Given the description of an element on the screen output the (x, y) to click on. 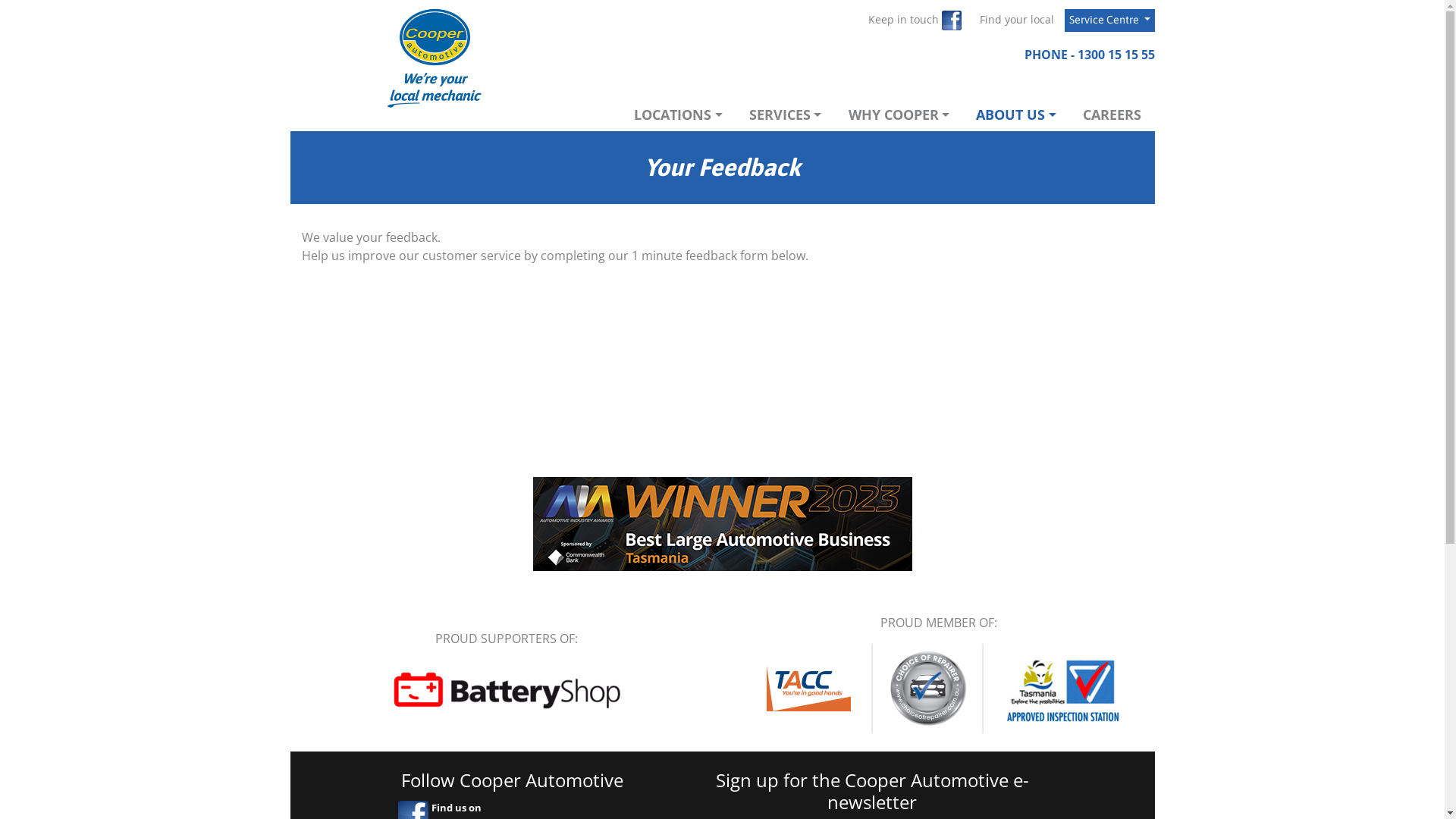
podium webchat widget prompt Element type: hover (1315, 644)
CAREERS Element type: text (1112, 114)
1300 15 15 55 Element type: text (1115, 54)
Service Centre Element type: text (1109, 20)
ABOUT US Element type: text (1016, 114)
WHY COOPER Element type: text (898, 114)
SERVICES Element type: text (785, 114)
LOCATIONS Element type: text (678, 114)
Cooper Automotive | Home Element type: hover (434, 57)
Web logo 250 x 250 Element type: hover (433, 57)
Keep in touch Element type: text (914, 19)
